Given the description of an element on the screen output the (x, y) to click on. 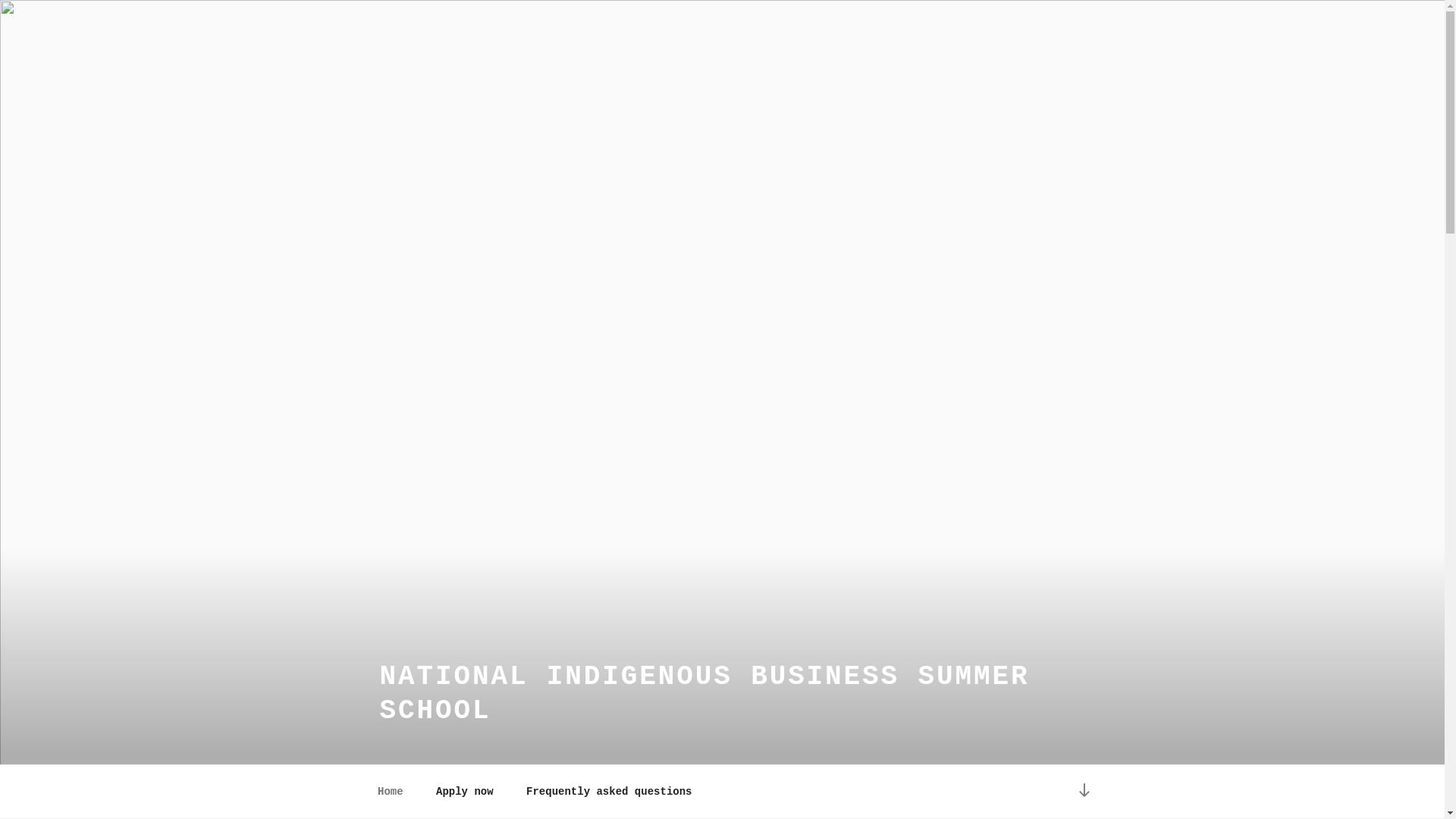
Frequently asked questions Element type: text (609, 791)
NATIONAL INDIGENOUS BUSINESS SUMMER SCHOOL Element type: text (704, 693)
Scroll down to content Element type: text (1083, 790)
Apply now Element type: text (465, 791)
Home Element type: text (390, 791)
